Given the description of an element on the screen output the (x, y) to click on. 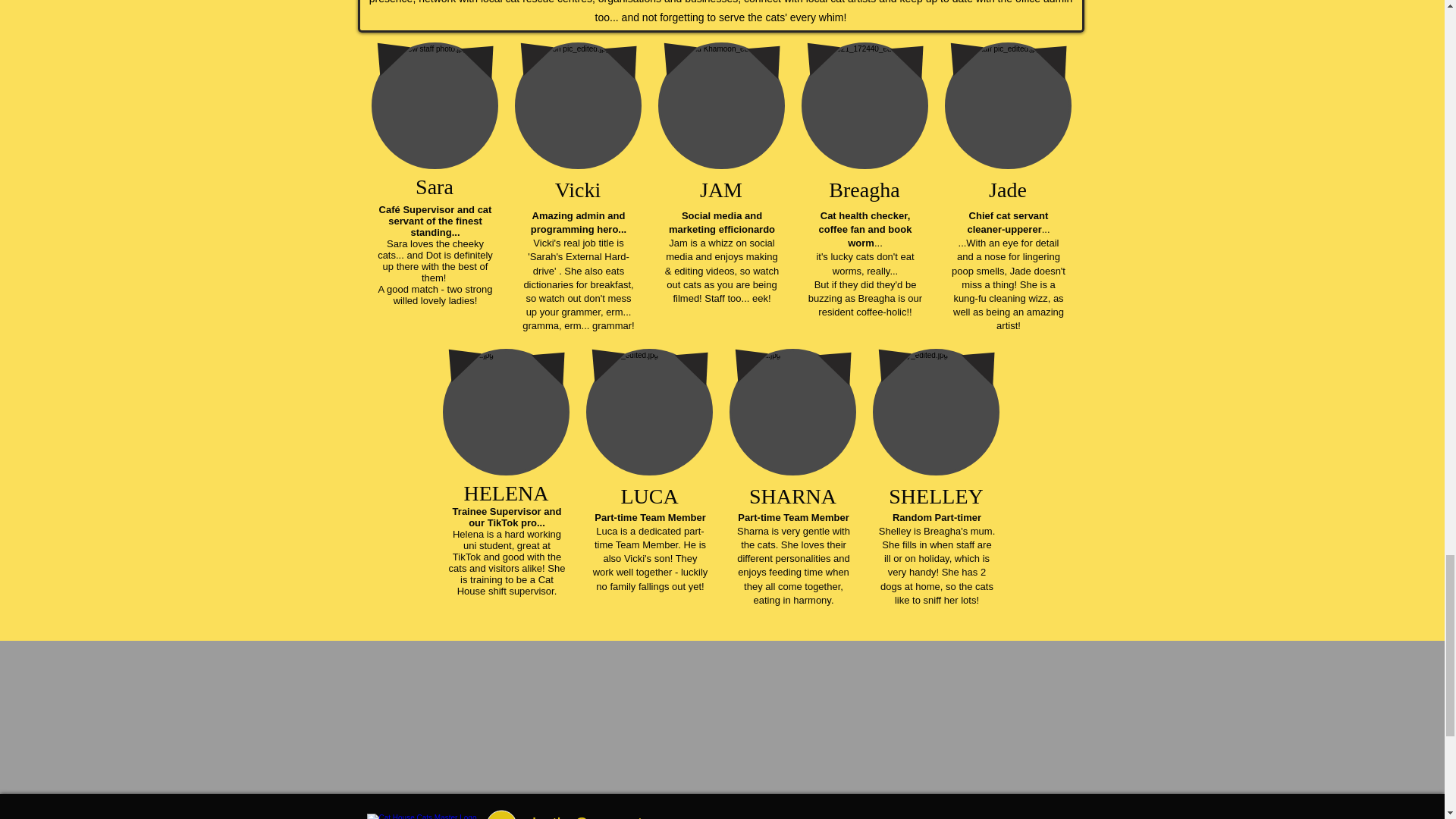
Cat House circle logo 2023.JPG (422, 816)
